Given the description of an element on the screen output the (x, y) to click on. 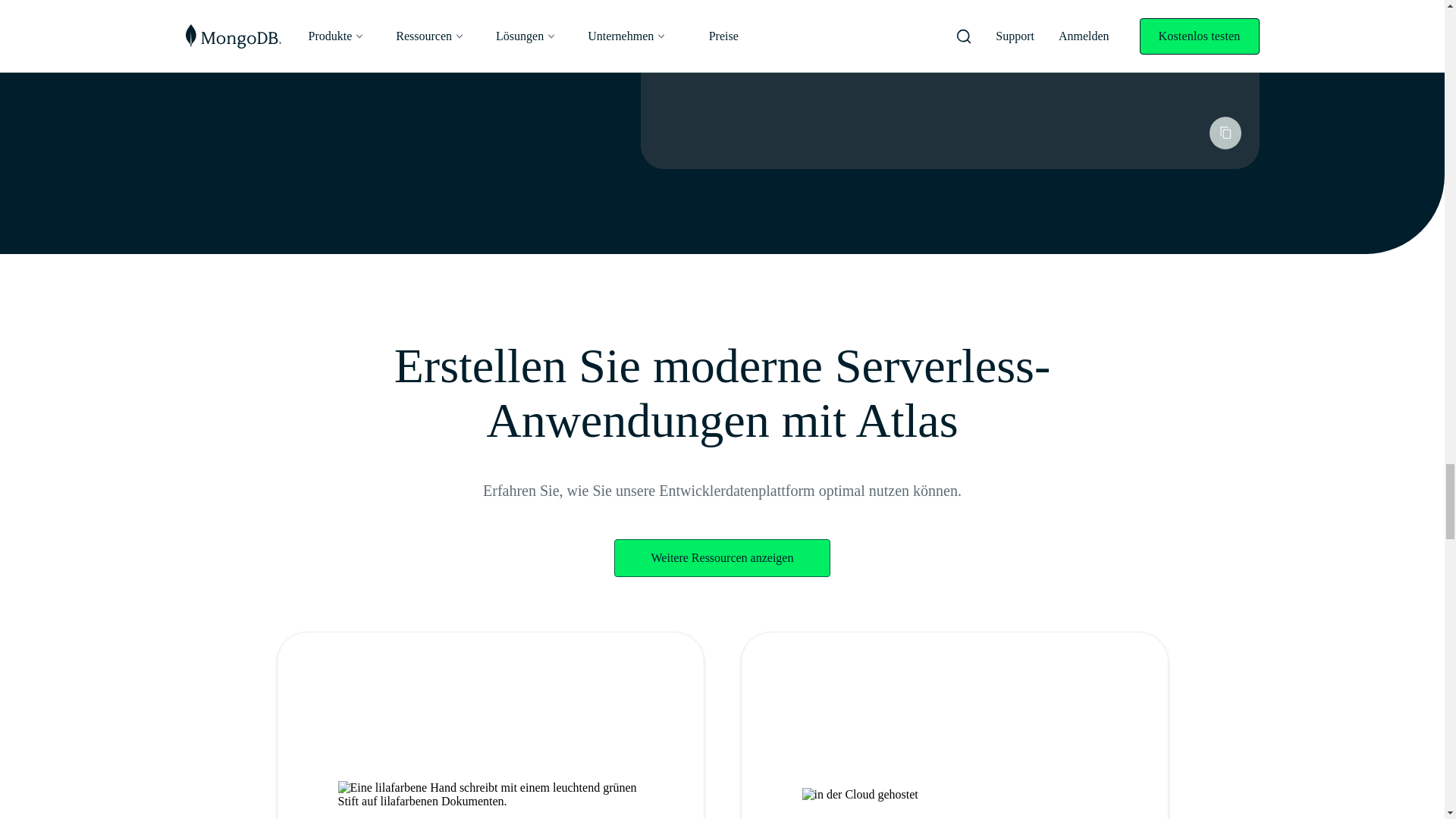
copy (1224, 132)
Copy Code (1224, 133)
